Given the description of an element on the screen output the (x, y) to click on. 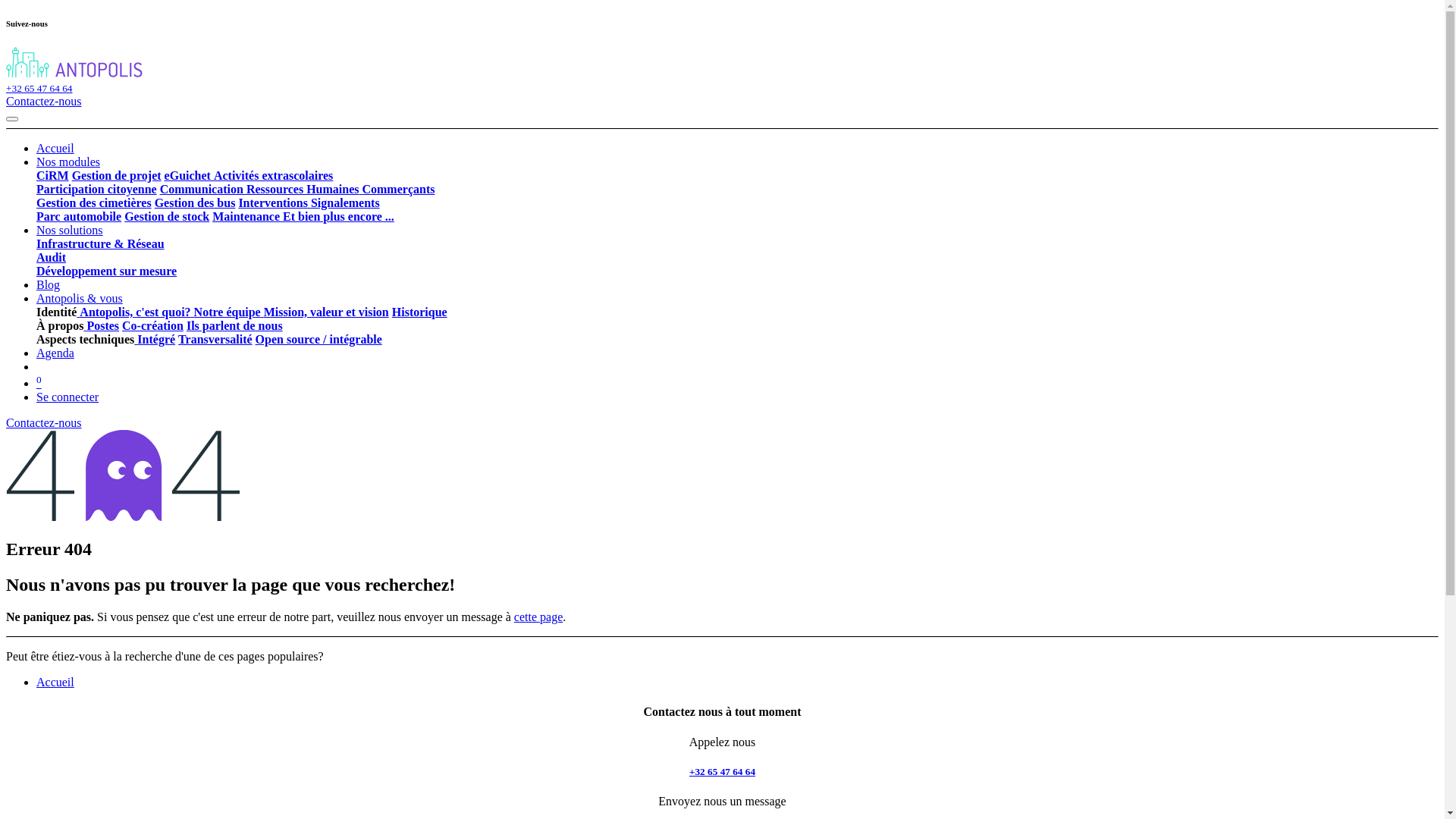
Interventions Element type: text (272, 202)
Se connecter Element type: text (67, 396)
Gestion de projet Element type: text (116, 175)
Audit Element type: text (50, 257)
Antopolis Element type: hover (74, 73)
Blog Element type: text (47, 284)
+32 65 47 64 64 Element type: text (39, 88)
Gestion de stock Element type: text (166, 216)
Signalements Element type: text (343, 202)
+32 65 47 64 64 Element type: text (722, 771)
Parc automobile Element type: text (78, 216)
Communication Element type: text (201, 188)
Participation citoyenne Element type: text (96, 188)
Maintenance Element type: text (245, 216)
Agenda Element type: text (55, 352)
Accueil Element type: text (55, 147)
Antopolis & vous Element type: text (79, 297)
Contactez-nous Element type: text (43, 100)
Accueil Element type: text (55, 681)
Ressources Humaines Element type: text (301, 188)
0 Element type: text (38, 382)
cette page Element type: text (538, 616)
CiRM Element type: text (52, 175)
Historique Element type: text (419, 311)
Nos modules Element type: text (68, 161)
Antopolis, c'est quoi? Element type: text (134, 311)
Gestion des bus Element type: text (194, 202)
Ils parlent de nous Element type: text (234, 325)
Contactez-nous Element type: text (43, 422)
Nos solutions Element type: text (69, 229)
Postes Element type: text (102, 325)
Mission, valeur et vision Element type: text (324, 311)
eGuichet Element type: text (187, 175)
Et bien plus encore ... Element type: text (336, 216)
